Given the description of an element on the screen output the (x, y) to click on. 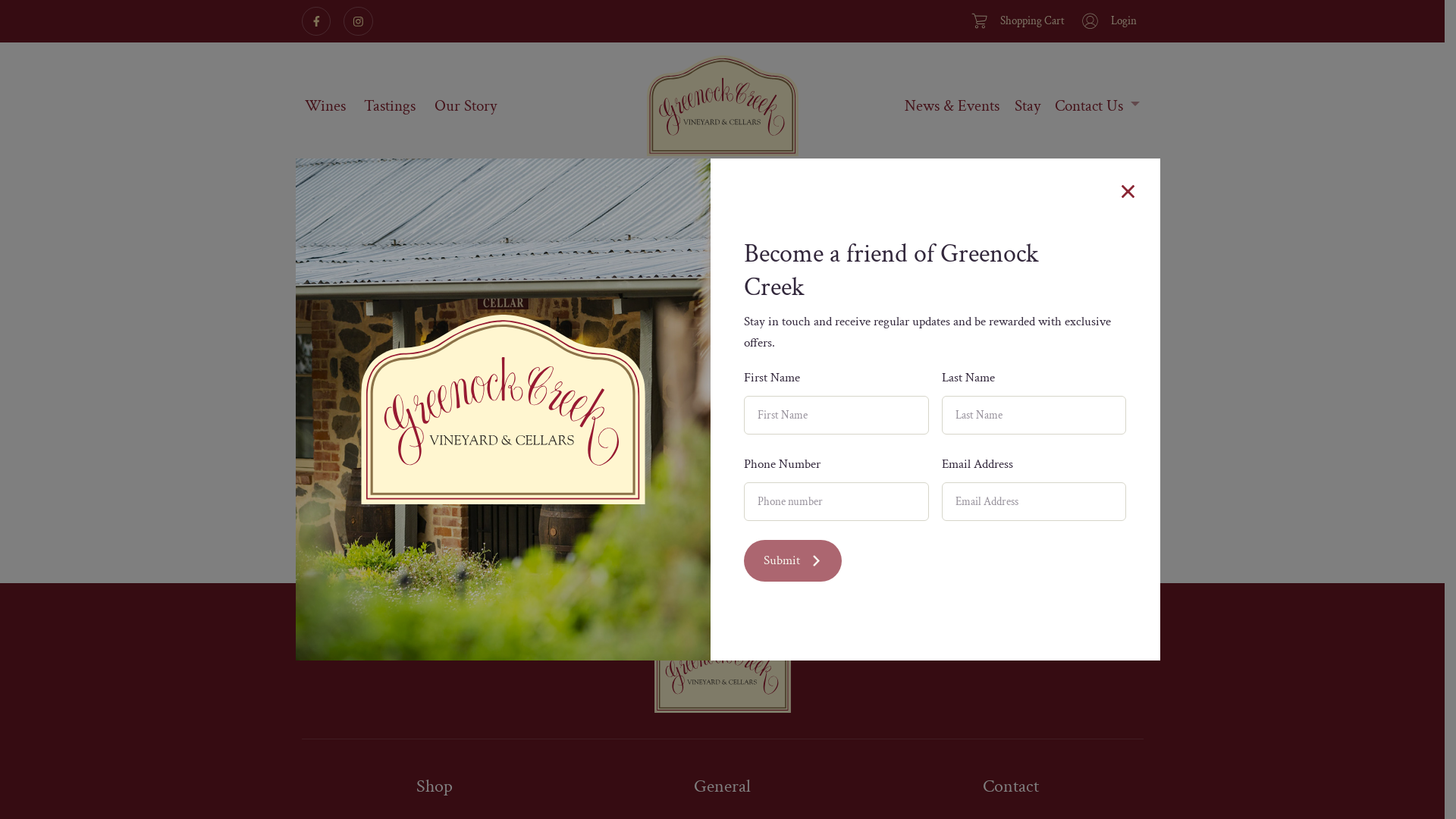
News & Events Element type: text (952, 105)
Login Element type: text (1106, 20)
Wines Element type: text (325, 105)
Greenock Creek Wines Logo Element type: hover (721, 105)
Greenock Creek Wines Logo Element type: hover (721, 666)
instagram Element type: hover (358, 20)
Contact Us Element type: text (1096, 105)
Stay Element type: text (1026, 105)
Close This Window Element type: hover (1127, 190)
Submit Element type: text (792, 560)
Shopping Cart Element type: text (1015, 20)
Return to the homepage Element type: text (722, 451)
Our Story Element type: text (464, 105)
Tastings Element type: text (389, 105)
facebook Element type: hover (316, 20)
